Given the description of an element on the screen output the (x, y) to click on. 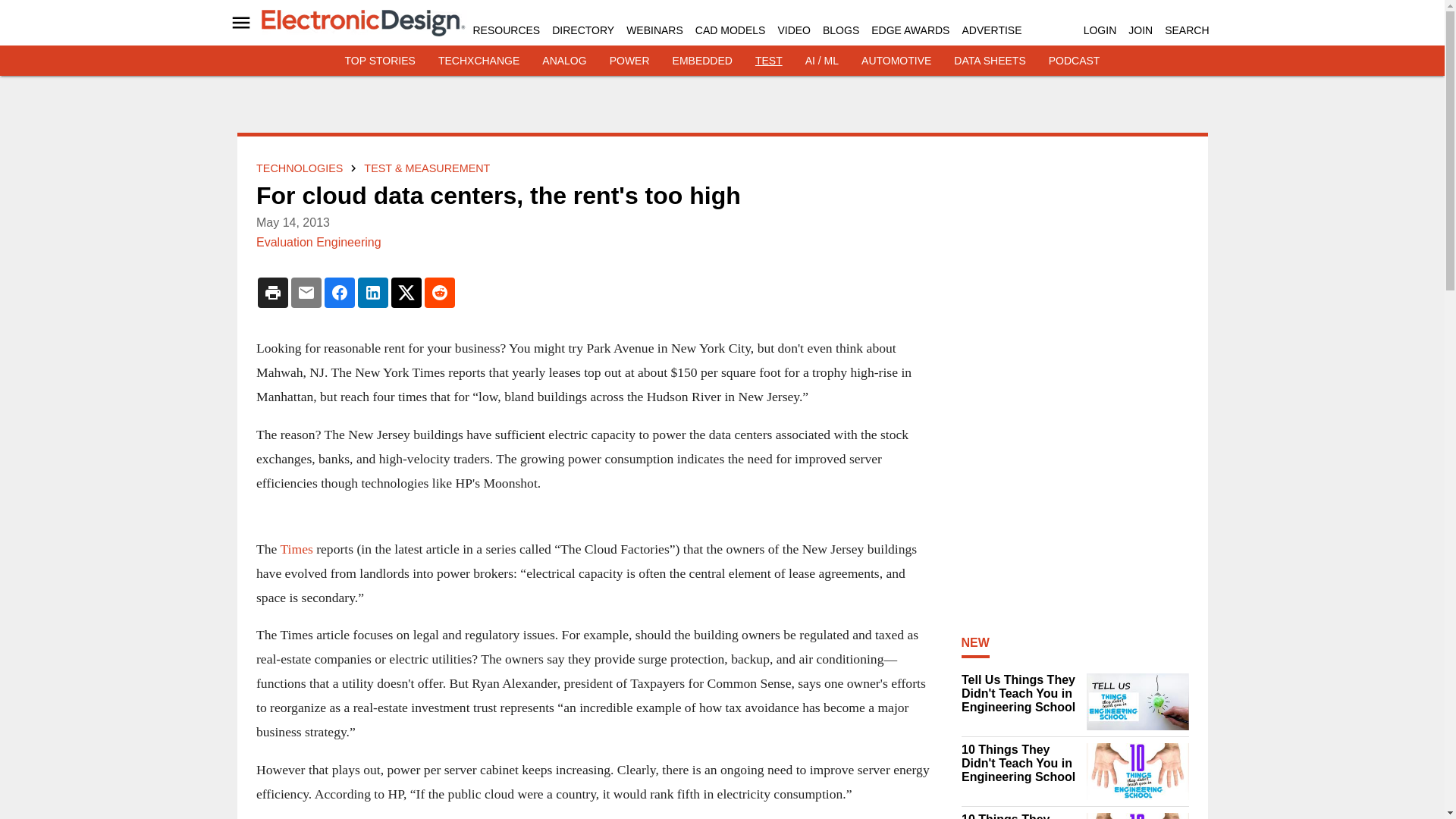
PODCAST (1074, 60)
ADVERTISE (991, 30)
TEST (769, 60)
SEARCH (1186, 30)
EMBEDDED (702, 60)
DATA SHEETS (989, 60)
RESOURCES (506, 30)
BLOGS (840, 30)
THE CLOUD FACTORIES: Landlords Double as Energy Brokers (296, 548)
DIRECTORY (582, 30)
